Given the description of an element on the screen output the (x, y) to click on. 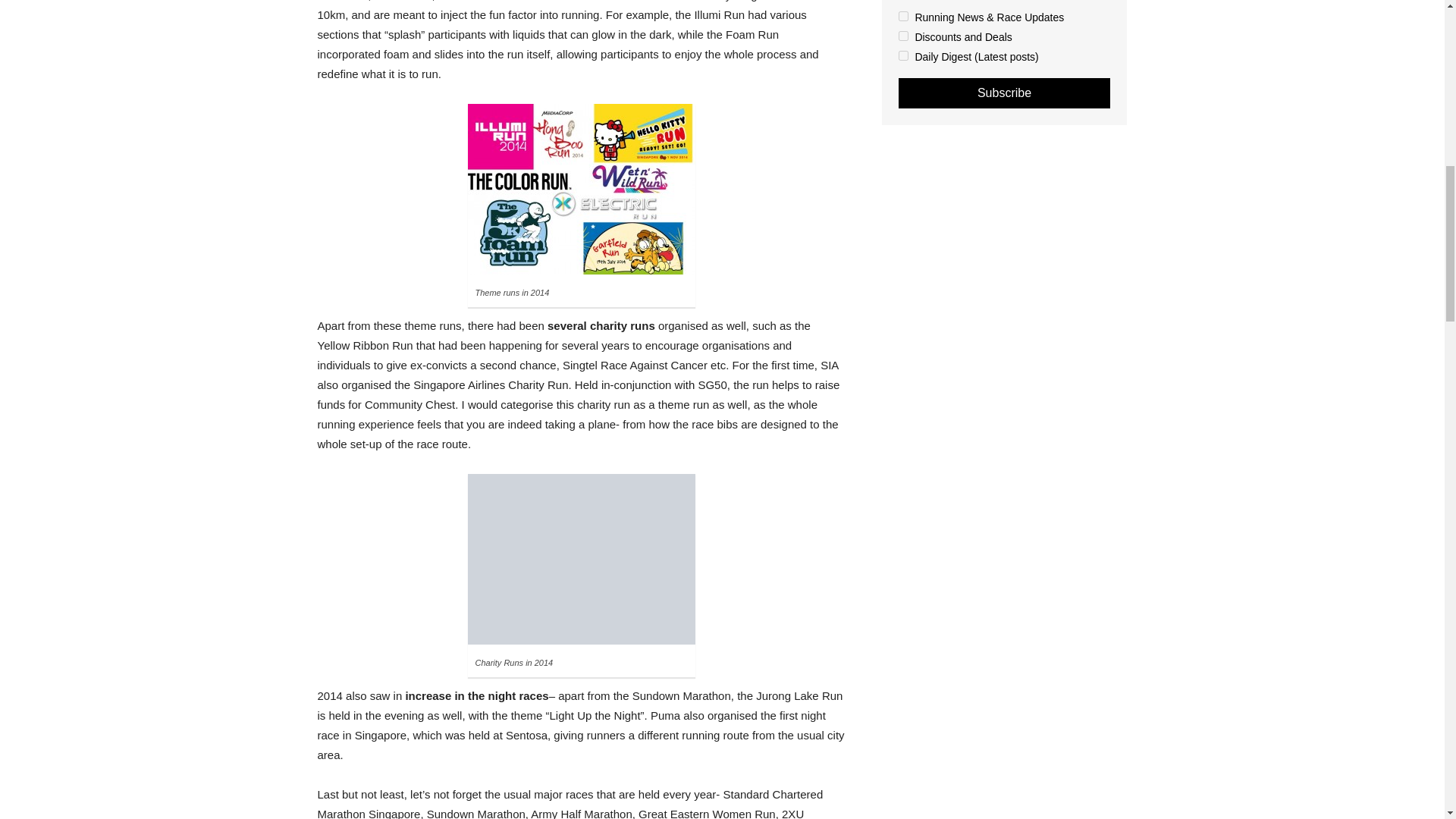
8671582 (902, 55)
8671580 (902, 35)
8671578 (902, 16)
